Given the description of an element on the screen output the (x, y) to click on. 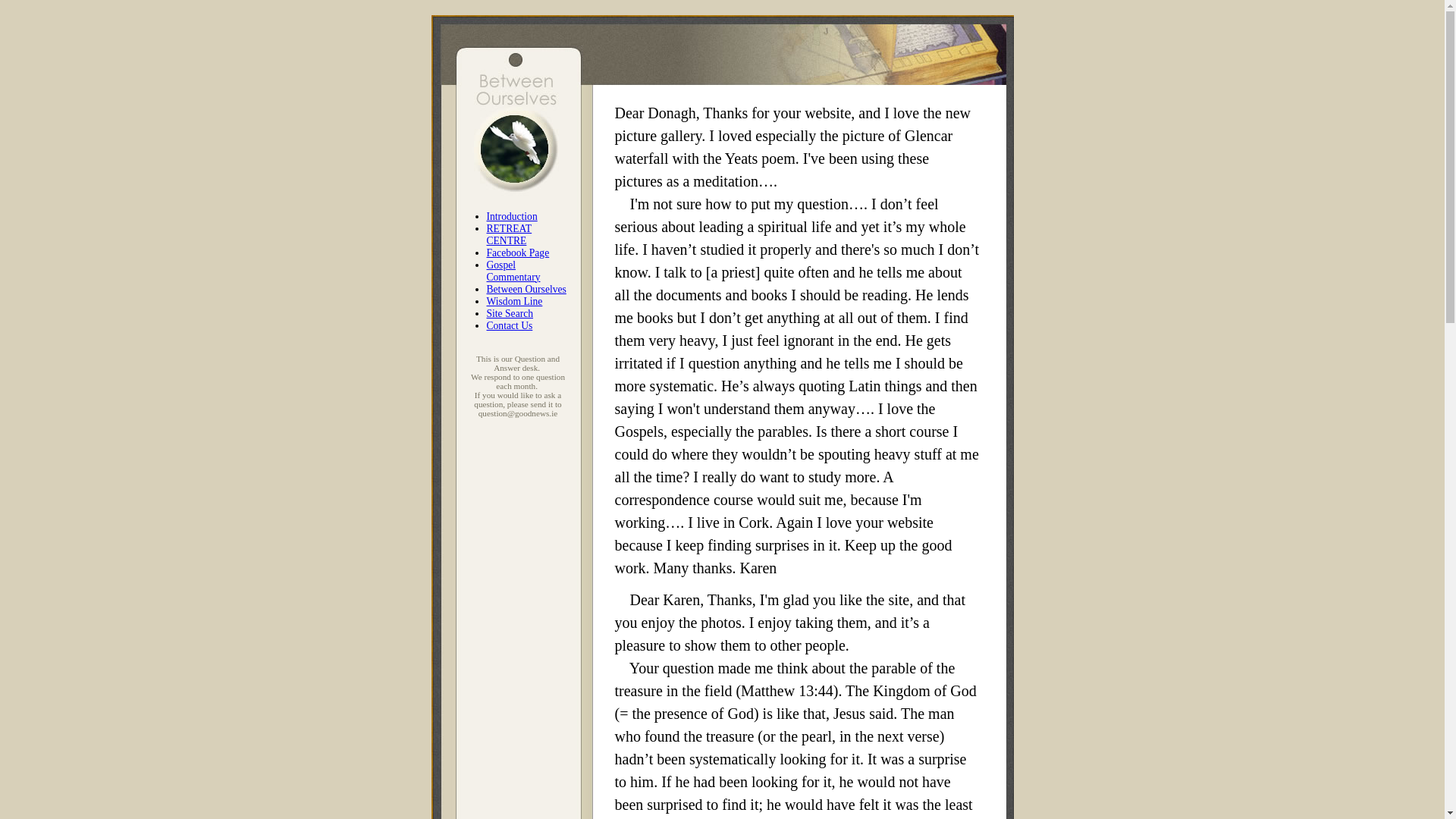
RETREAT CENTRE (509, 234)
Between Ourselves (526, 288)
Gospel Commentary (513, 270)
Facebook Page (518, 252)
Introduction (511, 215)
